Given the description of an element on the screen output the (x, y) to click on. 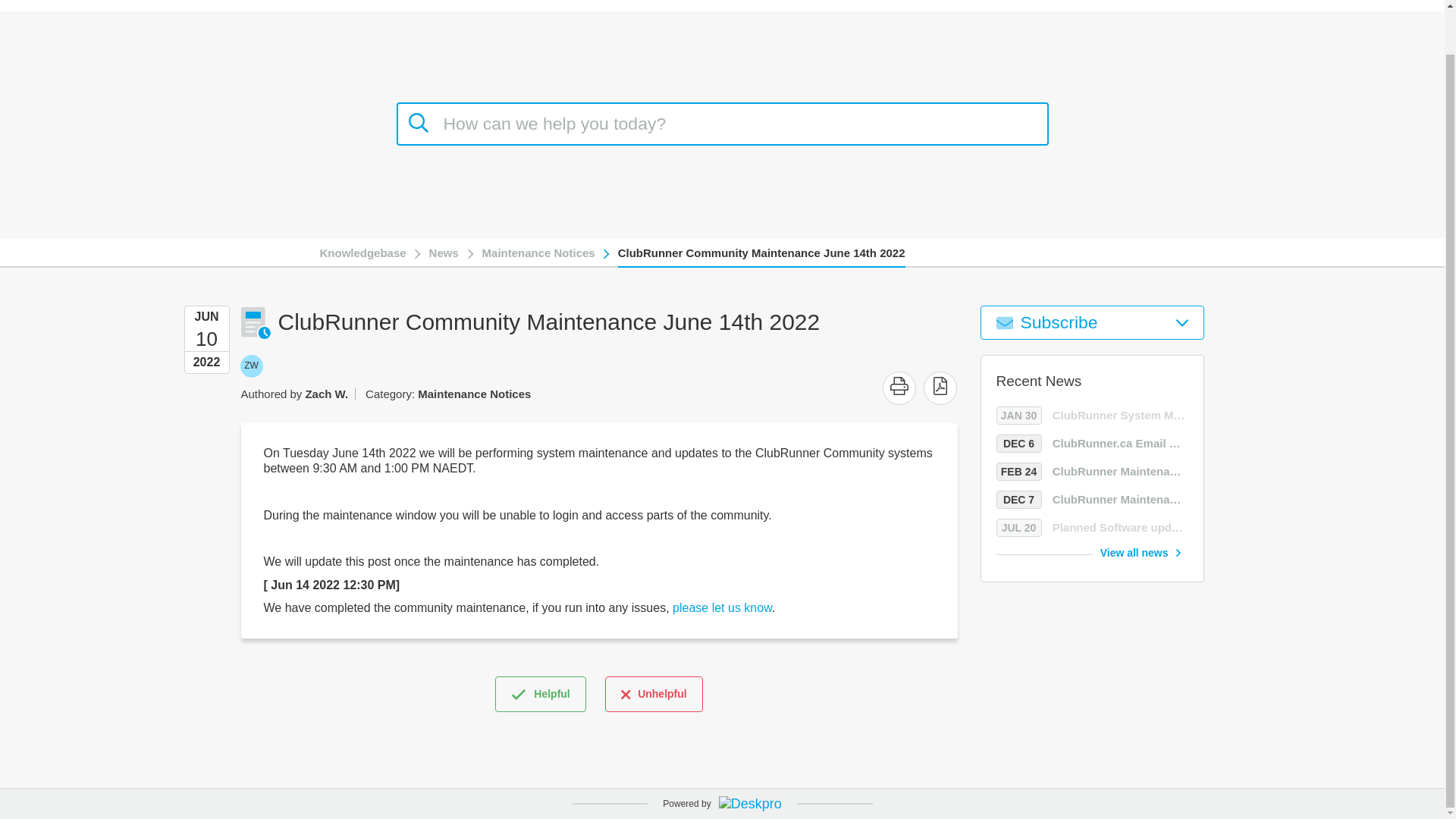
Subscribe (1091, 322)
Print (250, 365)
Print (898, 385)
DEC 6 ClubRunner.ca Email Migration (898, 387)
please let us know (1092, 443)
Pdf (721, 607)
DEC 7 ClubRunner Maintenance crsadmin.com - Dec 8 2022 (940, 385)
ClubRunner Community Maintenance June 14th 2022 (1092, 499)
Maintenance Notices (761, 252)
News (538, 252)
View all news (443, 252)
Pdf (1140, 552)
Unhelpful (940, 385)
Knowledgebase (654, 693)
